Given the description of an element on the screen output the (x, y) to click on. 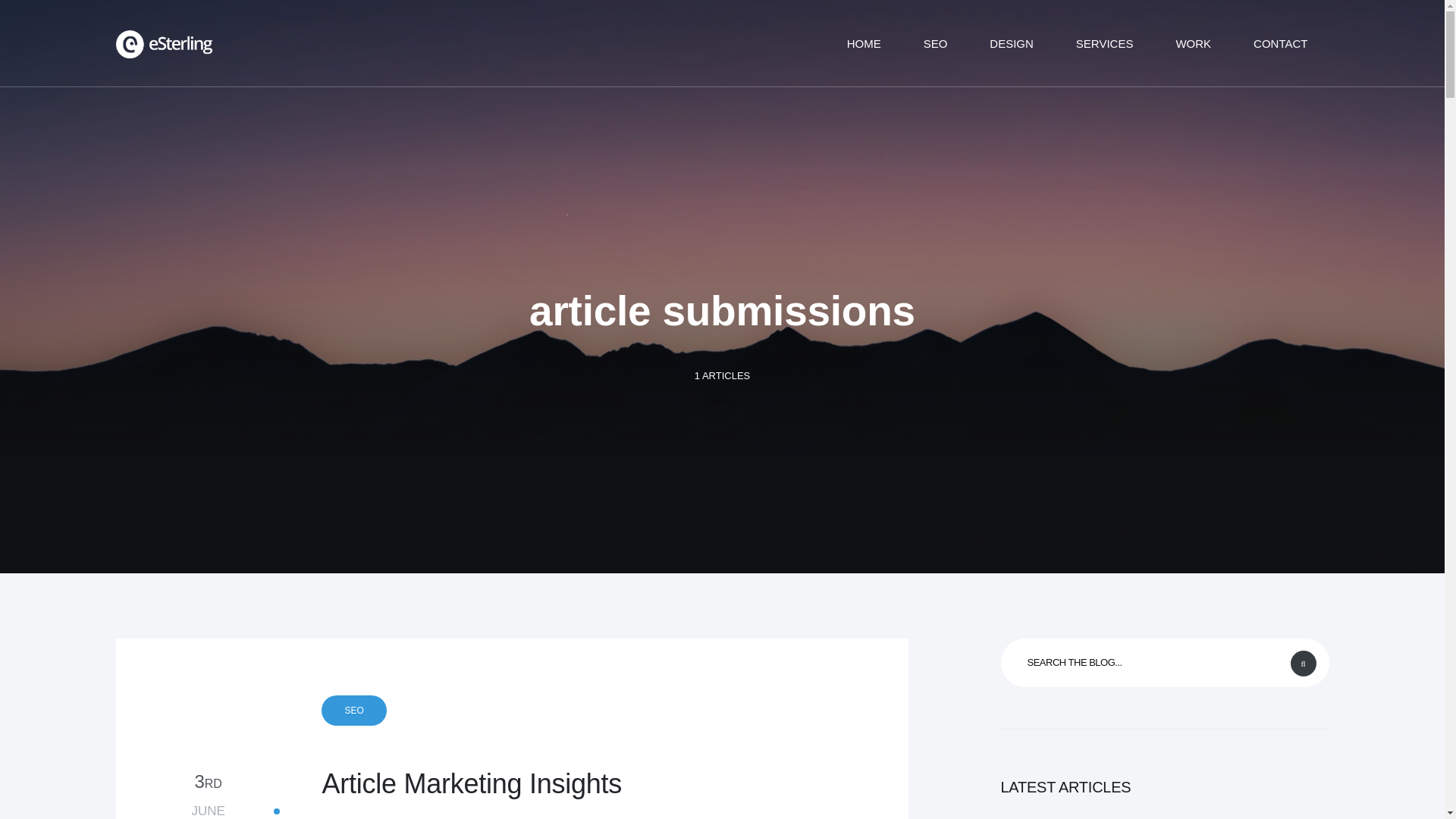
Article Marketing Insights (559, 783)
DESIGN (208, 795)
CONTACT (1011, 42)
SERVICES (1279, 42)
SEO (1104, 42)
WORK (353, 710)
HOME (1192, 42)
